Given the description of an element on the screen output the (x, y) to click on. 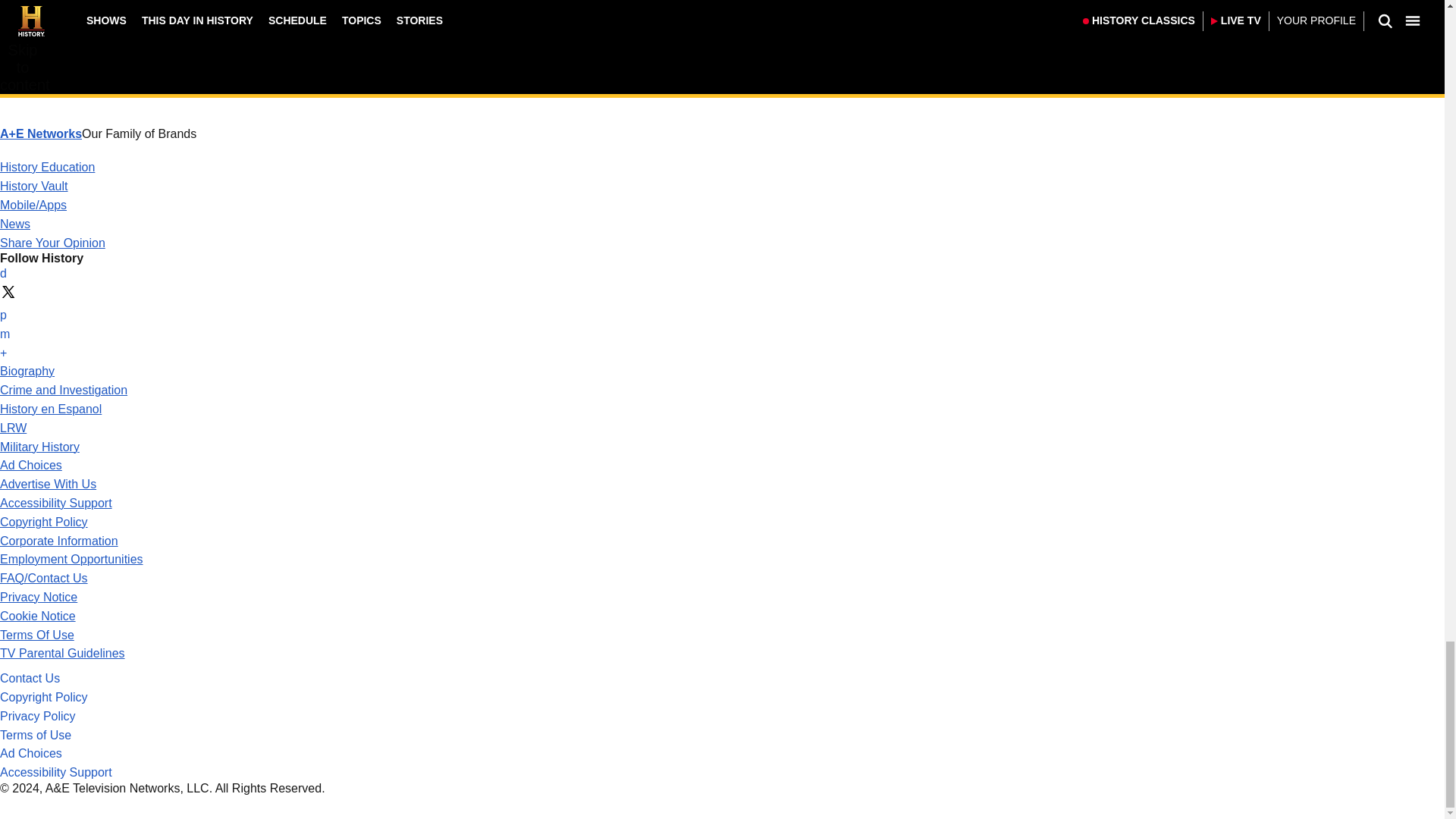
Visit LRW (13, 427)
Visit Crime and Investigation (64, 390)
Visit Ad Choices (31, 464)
Visit History Vault (34, 185)
Visit History en Espanol (50, 408)
Visit Privacy Notice (38, 596)
Visit News (15, 223)
Visit Biography (27, 370)
Visit Advertise With Us (48, 483)
Visit Cookie Notice (37, 615)
